Given the description of an element on the screen output the (x, y) to click on. 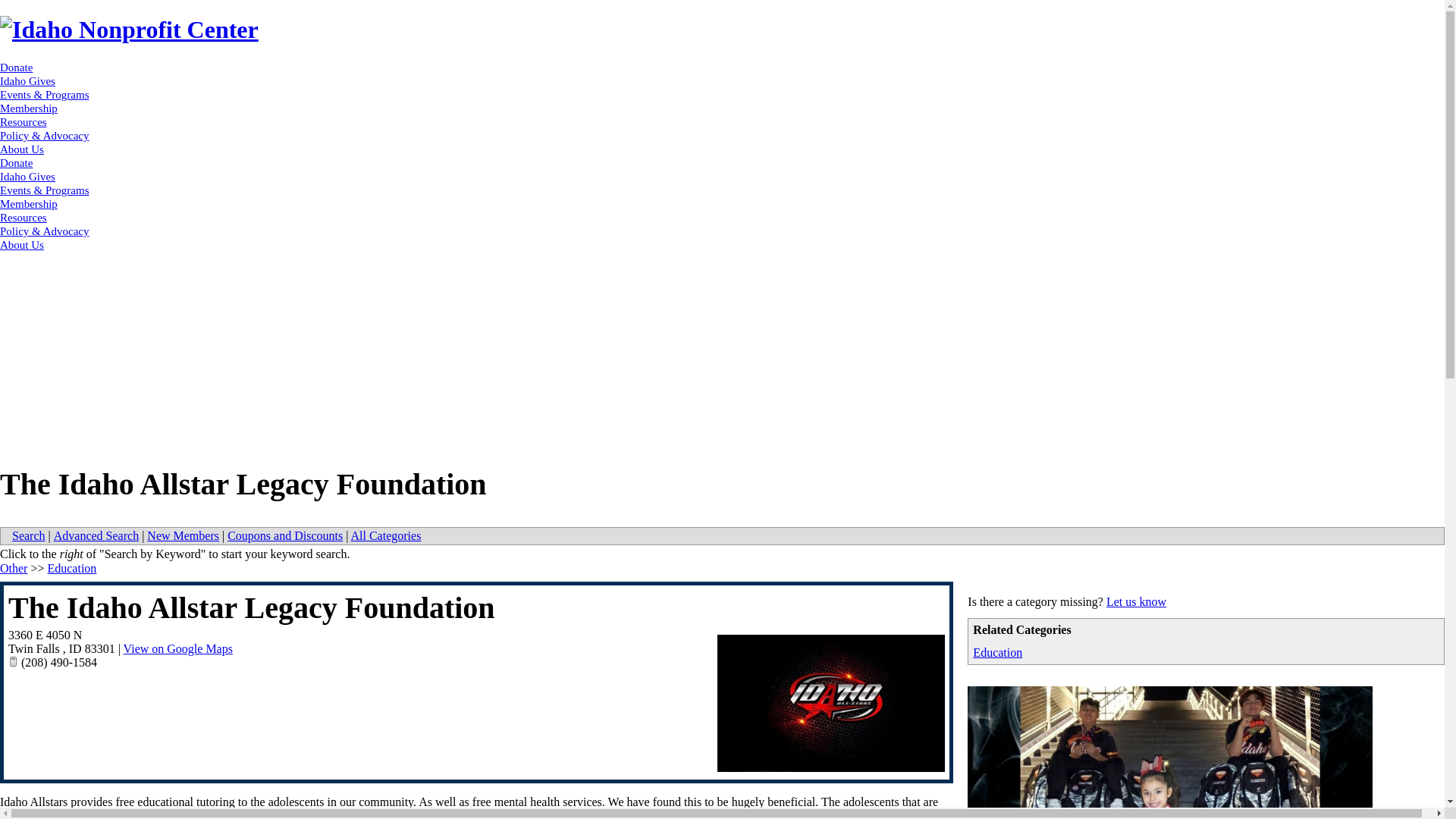
Membership (29, 108)
Donate (16, 67)
Idaho Gives (27, 176)
Membership (29, 203)
Idaho Gives (27, 80)
Donate (16, 162)
About Us (21, 149)
Resources (23, 217)
Resources (23, 121)
